Given the description of an element on the screen output the (x, y) to click on. 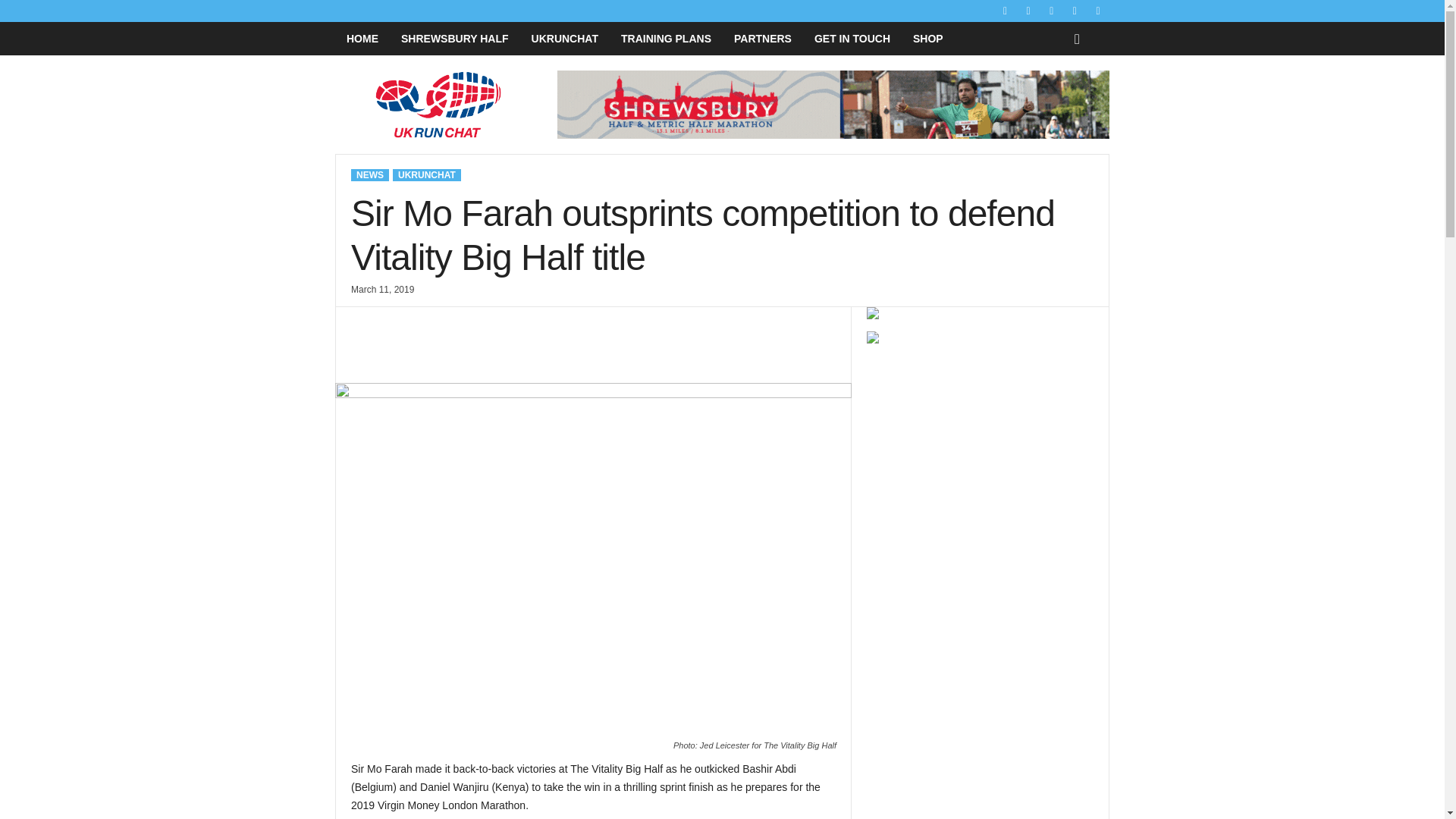
UKRUNCHAT (564, 38)
HOME (362, 38)
topFacebookLike (390, 322)
SHREWSBURY HALF (454, 38)
